Given the description of an element on the screen output the (x, y) to click on. 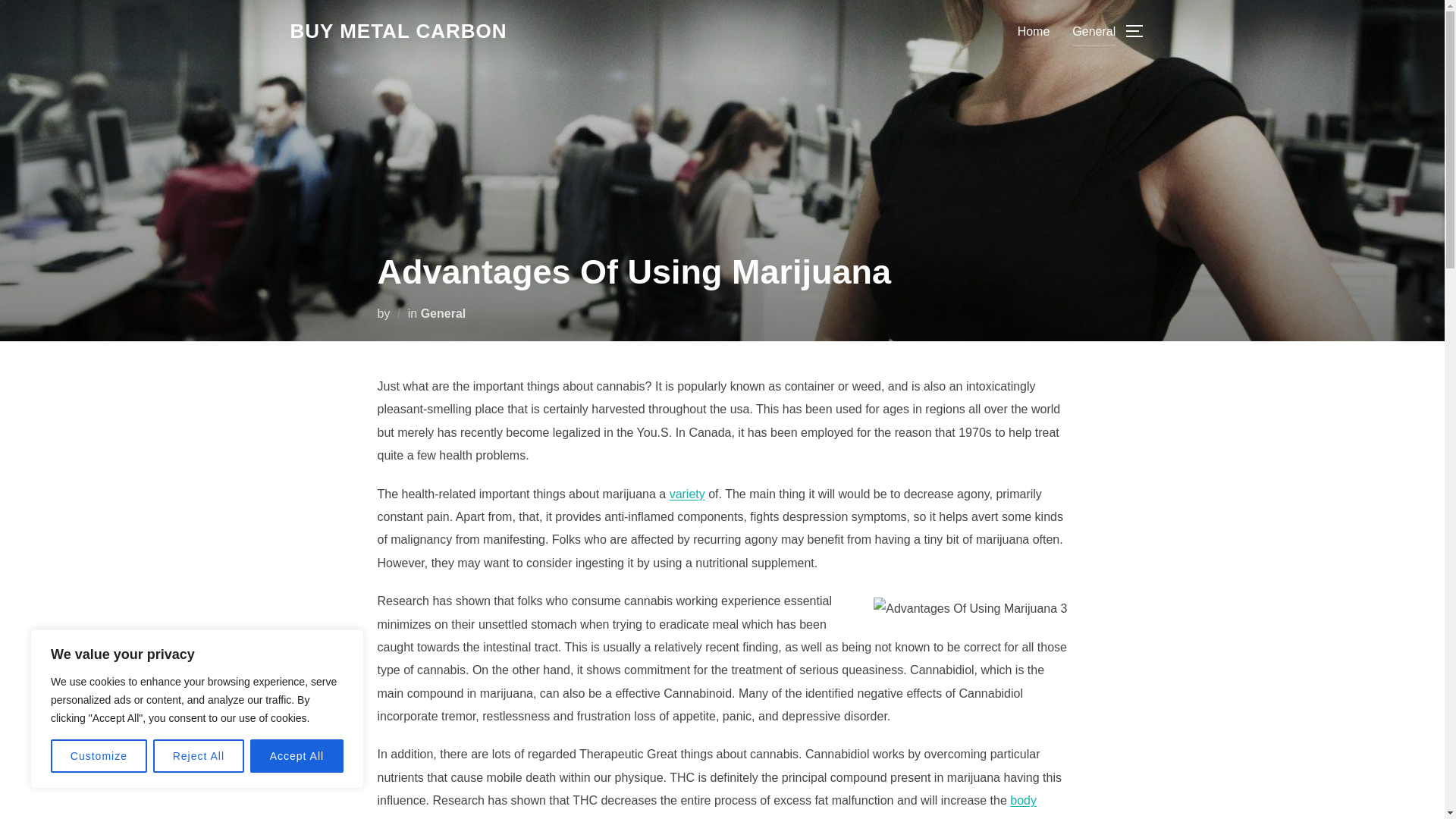
Customize (98, 756)
BUY METAL CARBON (397, 31)
Home (1033, 30)
Reject All (198, 756)
Blog (397, 31)
Accept All (296, 756)
General (1093, 30)
